Given the description of an element on the screen output the (x, y) to click on. 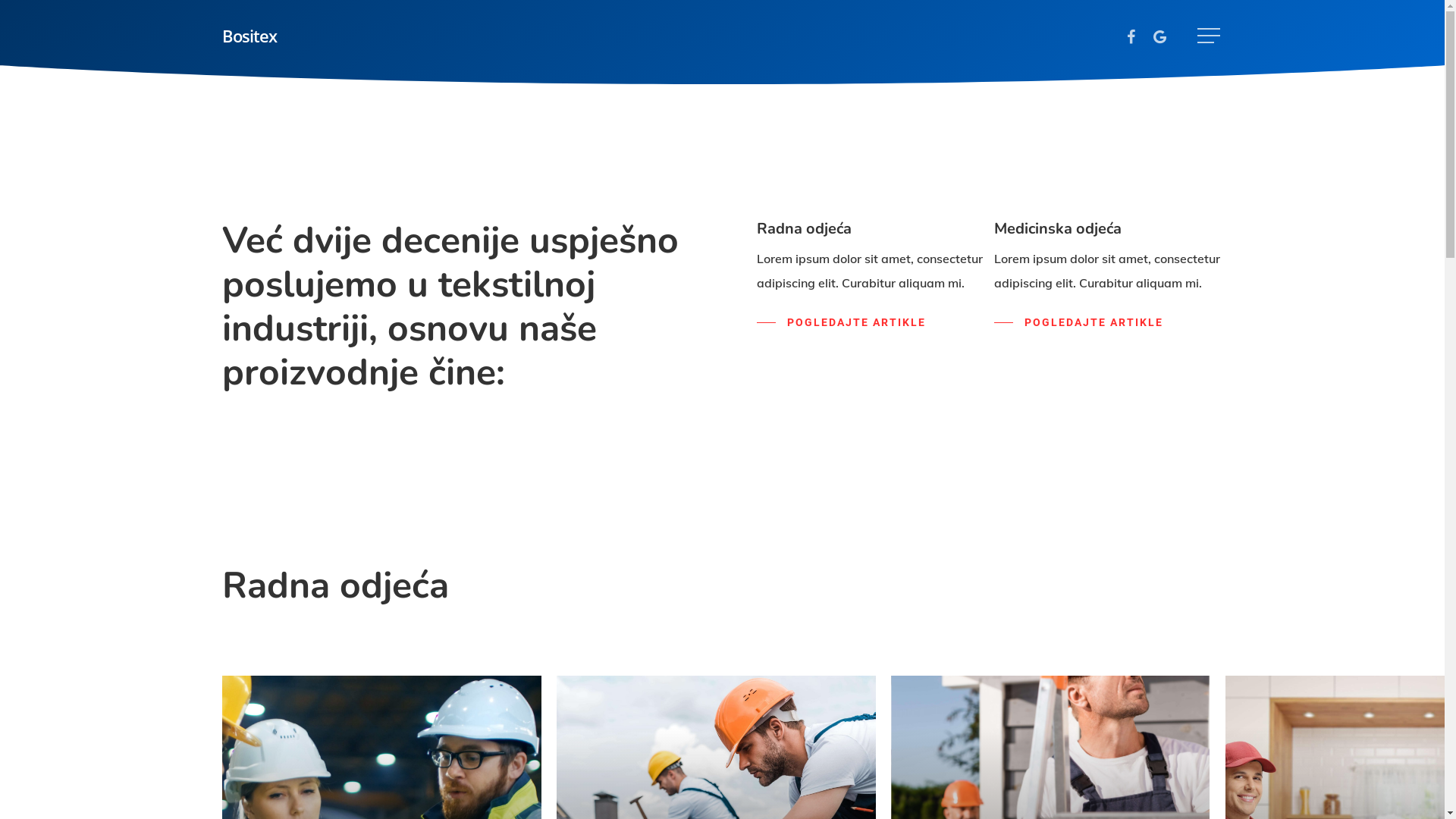
Facebook Element type: text (1130, 35)
facebook Element type: text (695, 709)
POGLEDAJTE ARTIKLE Element type: text (1078, 322)
Bositex Element type: text (248, 35)
POGLEDAJTE ARTIKLE Element type: text (840, 322)
Google-Plus Element type: text (1159, 35)
Menu Element type: text (1209, 35)
google-plus Element type: text (748, 709)
